Given the description of an element on the screen output the (x, y) to click on. 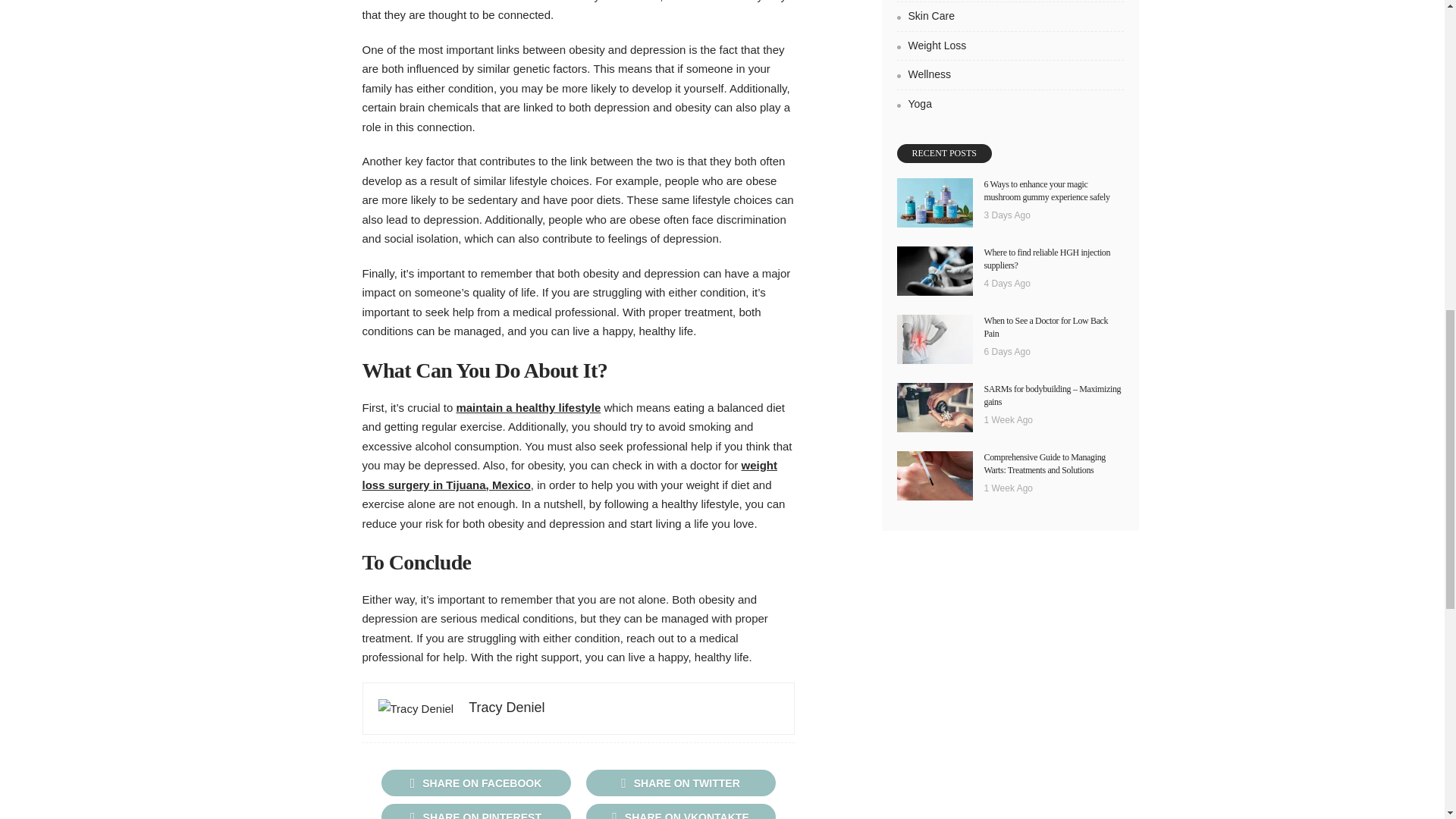
Tracy Deniel (506, 707)
weight loss surgery in Tijuana, Mexico (569, 474)
When to See a Doctor for Low Back Pain (1046, 327)
maintain a healthy lifestyle (527, 407)
Where to find reliable HGH injection suppliers? (1047, 259)
When to See a Doctor for Low Back Pain (934, 338)
